Given the description of an element on the screen output the (x, y) to click on. 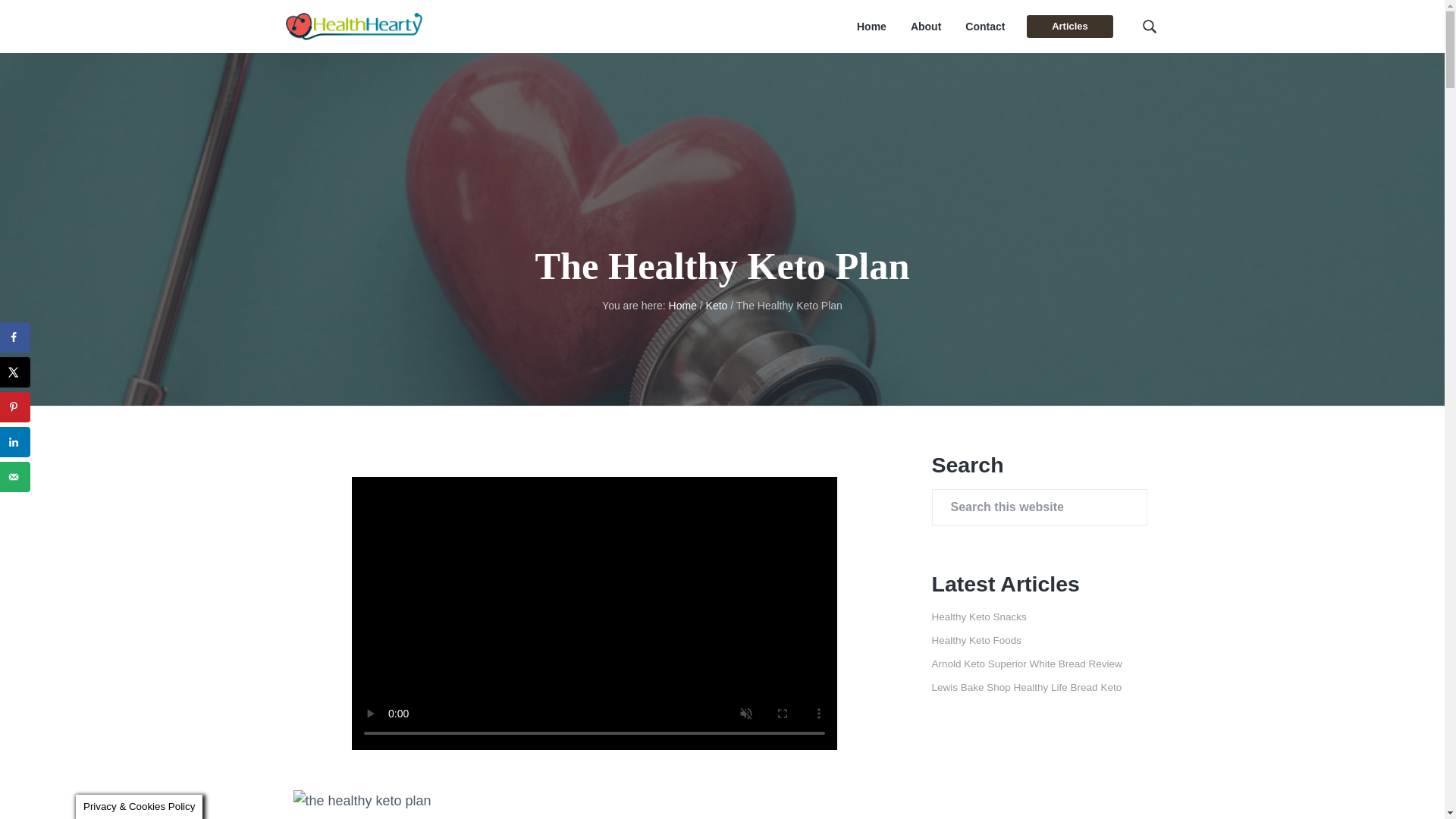
Arnold Keto Superior White Bread Review (1026, 663)
Lewis Bake Shop Healthy Life Bread Keto (1026, 686)
Articles (1068, 25)
Keto (717, 305)
Home (682, 305)
Search (60, 18)
Contact (984, 27)
Healthy Keto Foods (976, 640)
About (925, 27)
Home (871, 27)
Healthy Keto Snacks (978, 616)
